Given the description of an element on the screen output the (x, y) to click on. 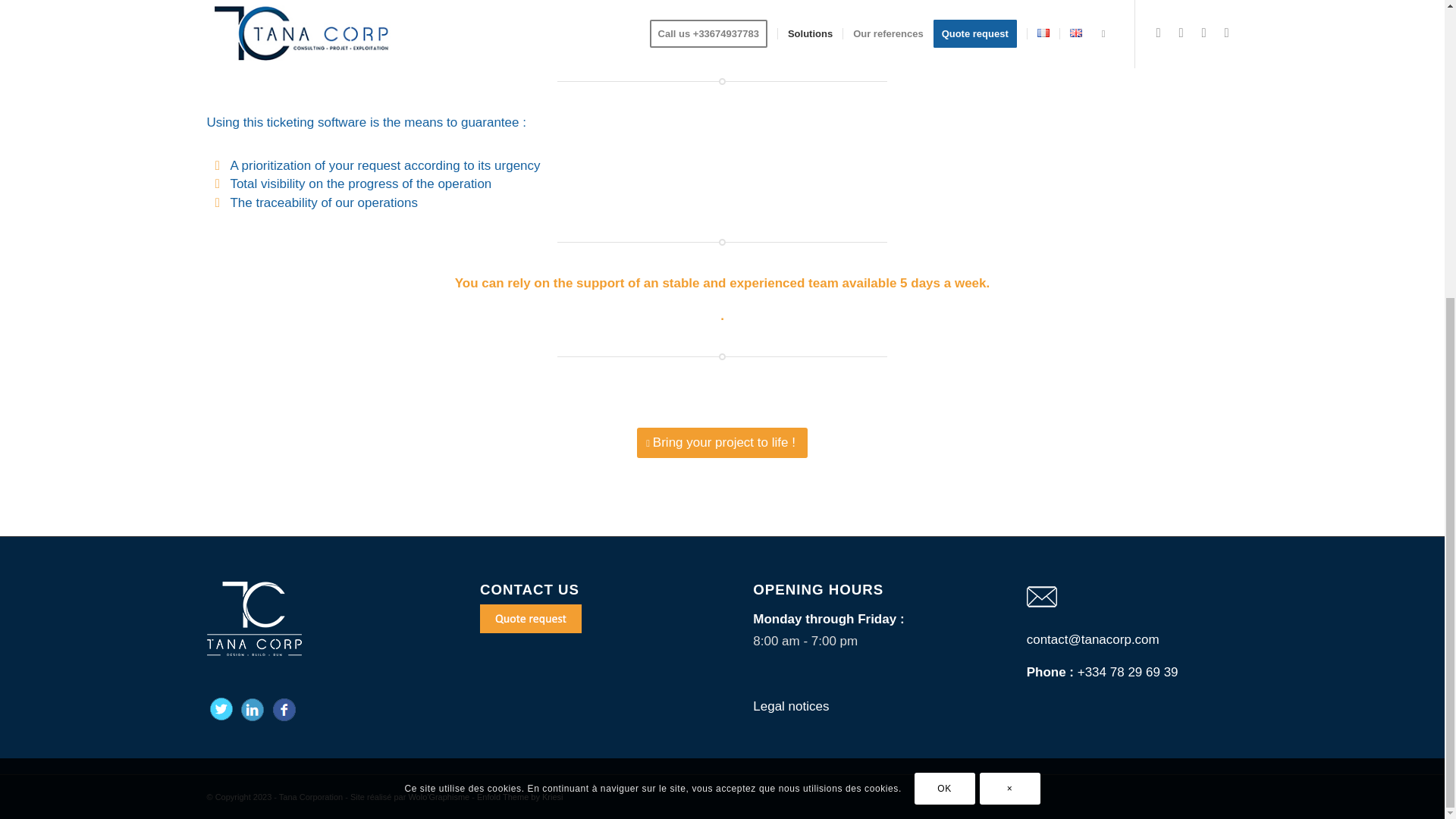
Enfold Theme by Kriesi (520, 796)
OK (944, 327)
Bring your project to life ! (722, 442)
Legal notices (790, 706)
CONTACT US (530, 618)
Wolo'Graphisme (437, 796)
